Given the description of an element on the screen output the (x, y) to click on. 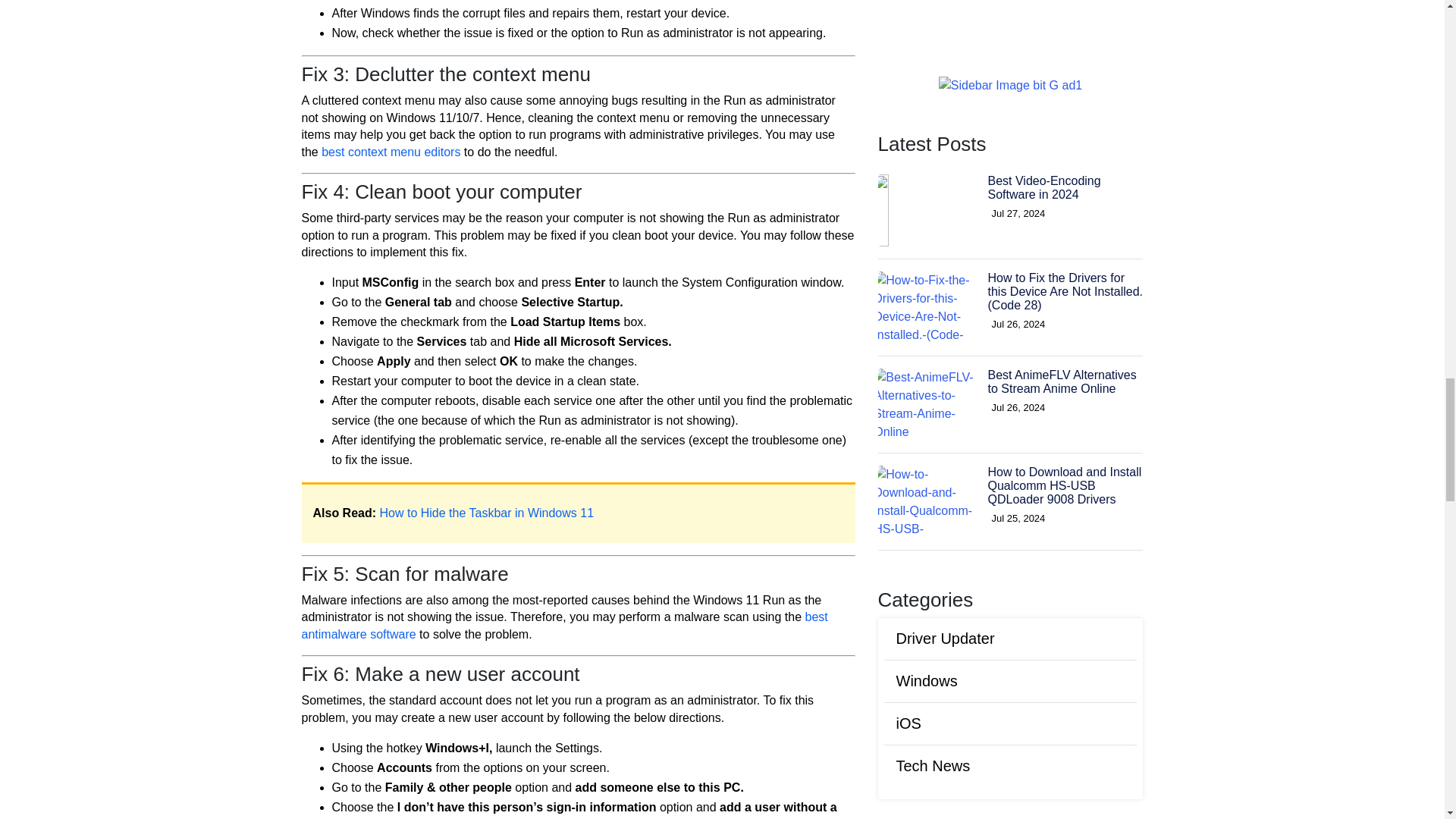
How to Hide the Taskbar in Windows 11  (488, 512)
best context menu editors (390, 151)
